Given the description of an element on the screen output the (x, y) to click on. 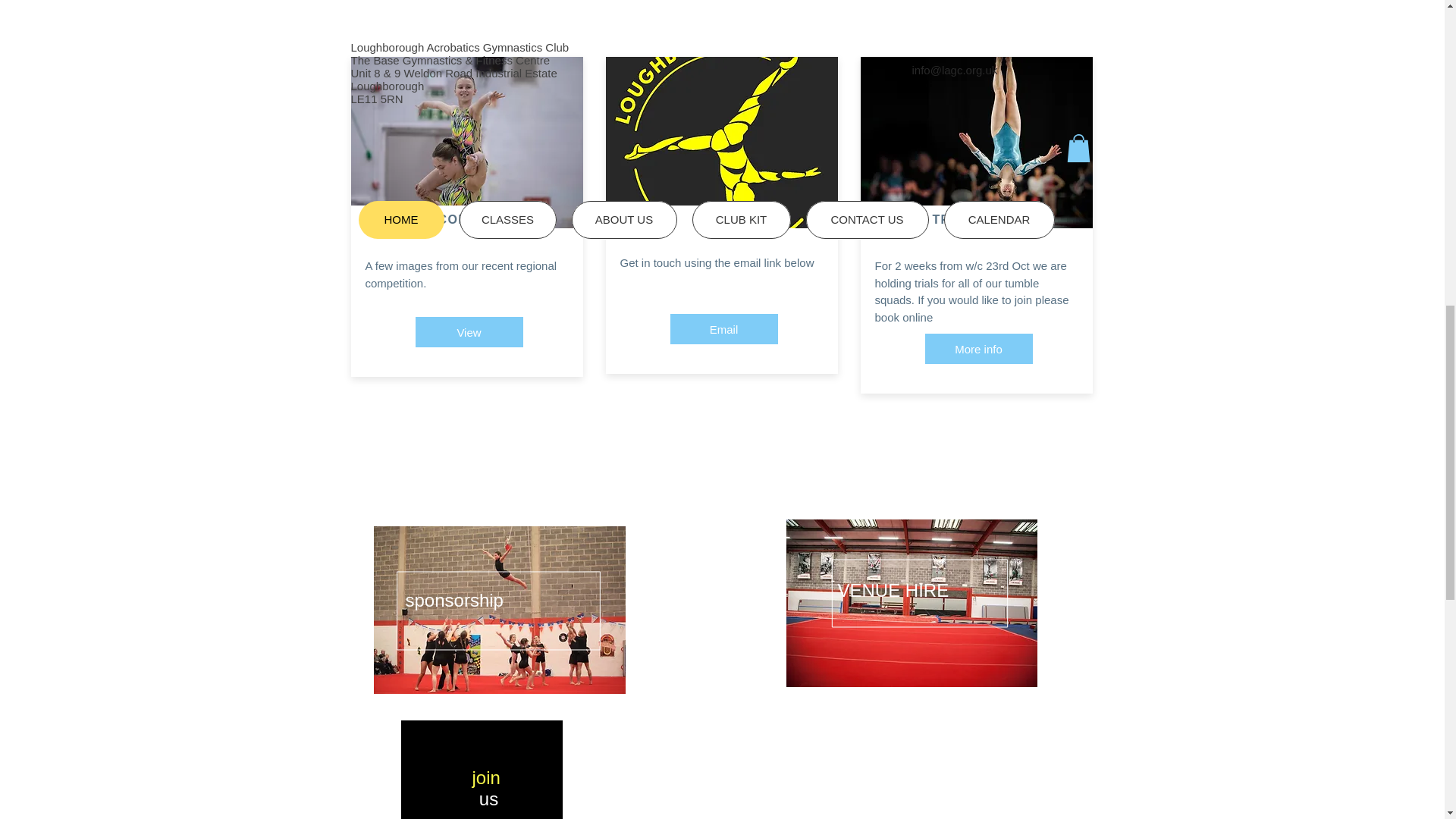
join  (488, 777)
More info (978, 348)
VENUE HIRE (893, 589)
Email (723, 328)
sponsorship (453, 599)
View (468, 331)
us (488, 798)
